Given the description of an element on the screen output the (x, y) to click on. 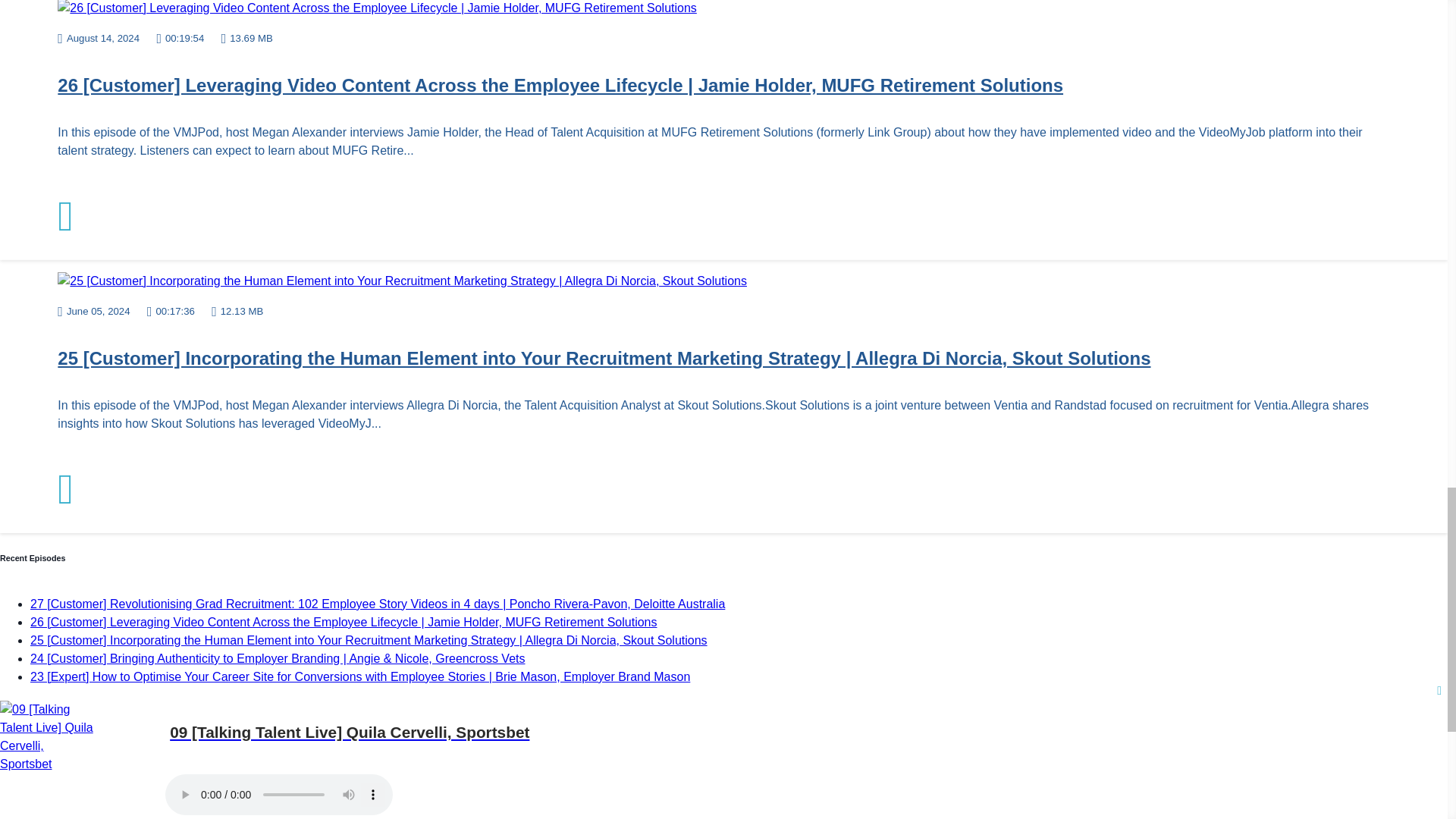
Episode Duration (179, 37)
About (46, 793)
Episodes (55, 775)
Episode Duration (171, 310)
Date (98, 37)
Episode Weight (237, 310)
Date (93, 310)
Home (46, 757)
Episode Weight (247, 37)
Blog (42, 811)
